Given the description of an element on the screen output the (x, y) to click on. 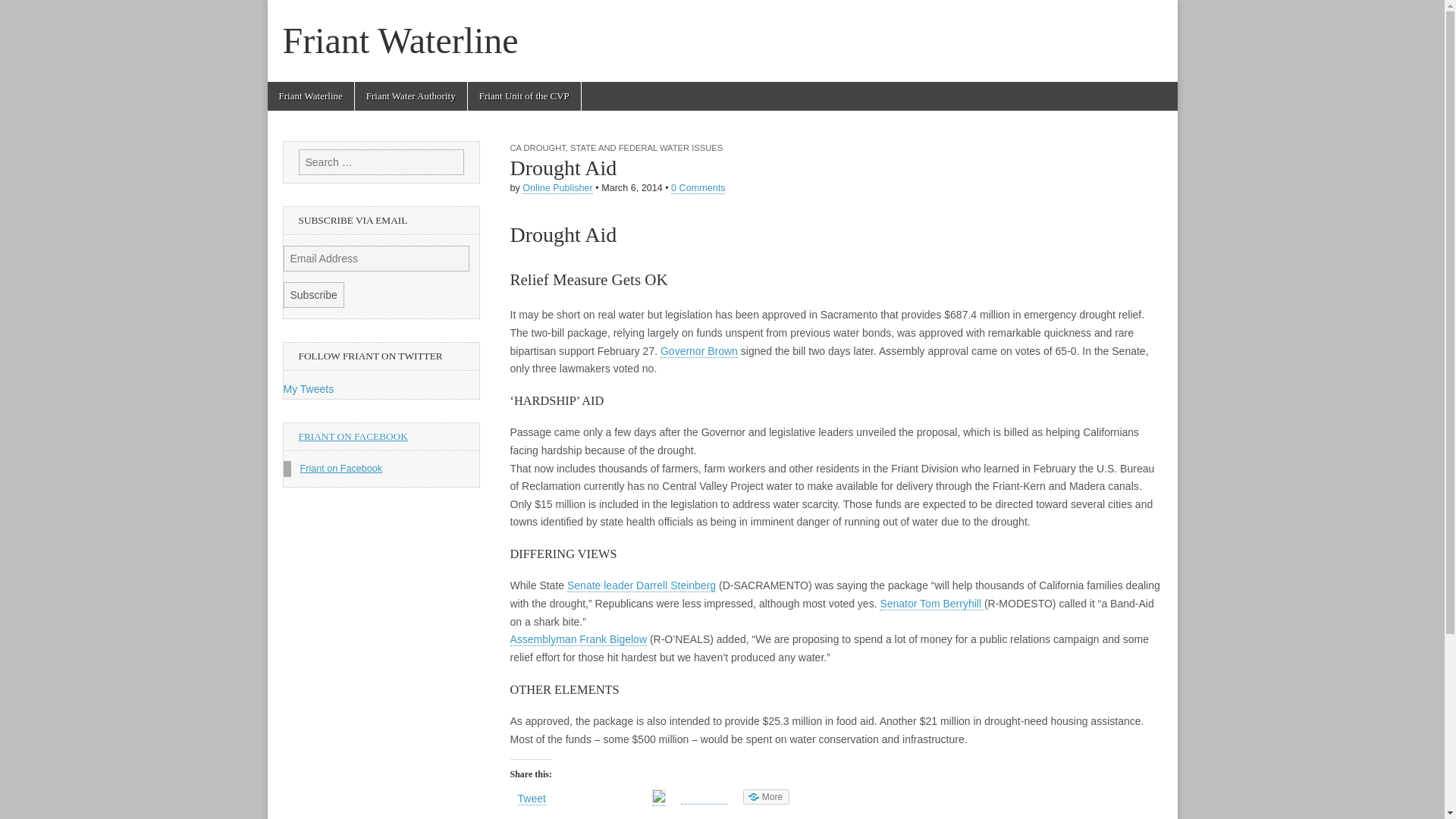
FRIANT ON FACEBOOK (352, 436)
Assemblyman Frank Bigelow (577, 639)
Tweet (530, 798)
Friant Unit of the CVP (523, 95)
Posts by Online Publisher (557, 188)
Assemblyman Frank Bigelow (577, 639)
Friant Waterline (309, 95)
Subscribe (313, 294)
Governor Brown (699, 350)
0 Comments (698, 188)
